Given the description of an element on the screen output the (x, y) to click on. 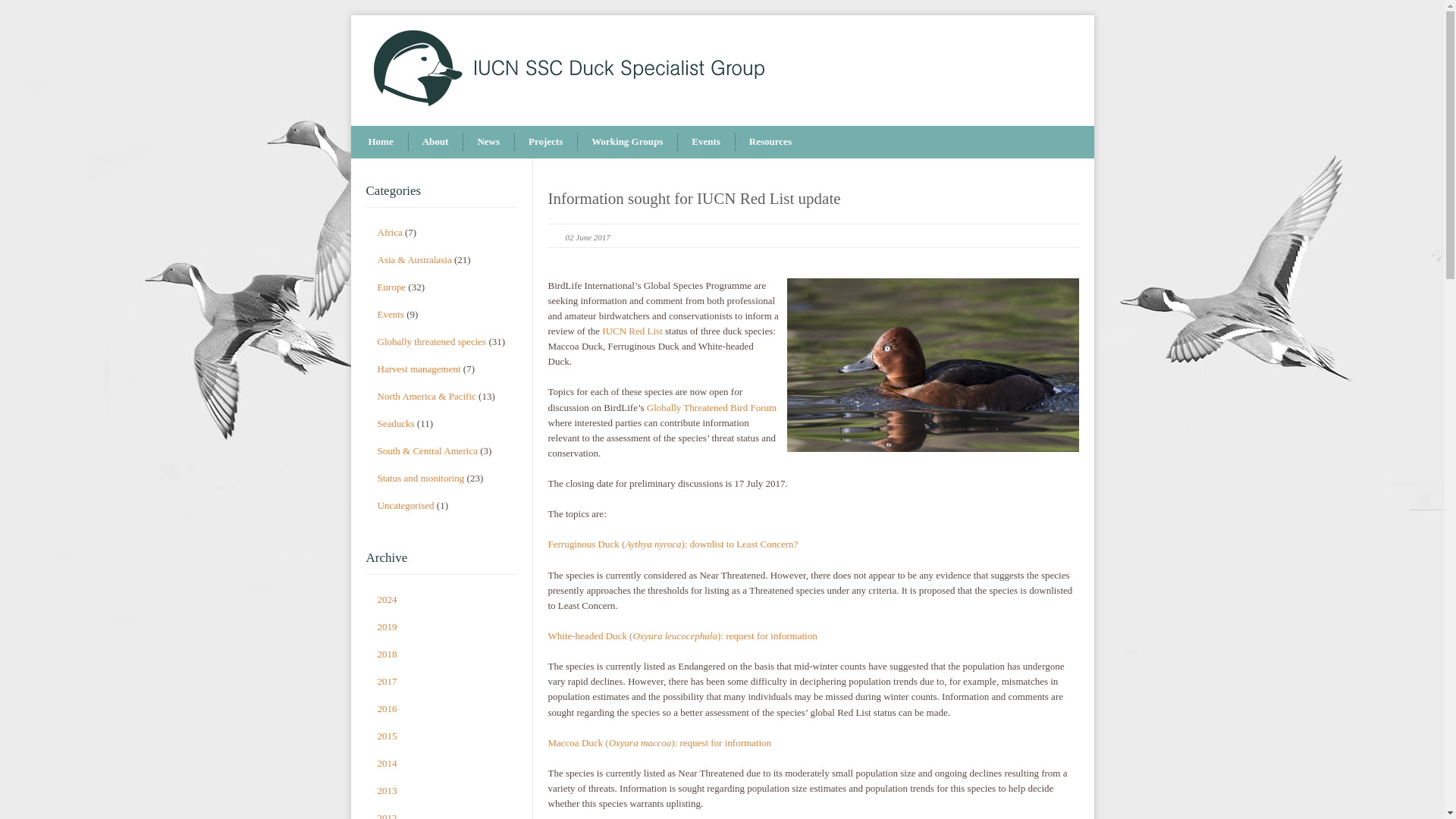
Resources (770, 141)
Working Groups (626, 141)
About (435, 141)
Africa (390, 232)
Events (706, 141)
Information sought for IUCN Red List update (693, 198)
Events (390, 314)
Projects (544, 141)
Globally threatened species (431, 341)
Harvest management (419, 368)
